Given the description of an element on the screen output the (x, y) to click on. 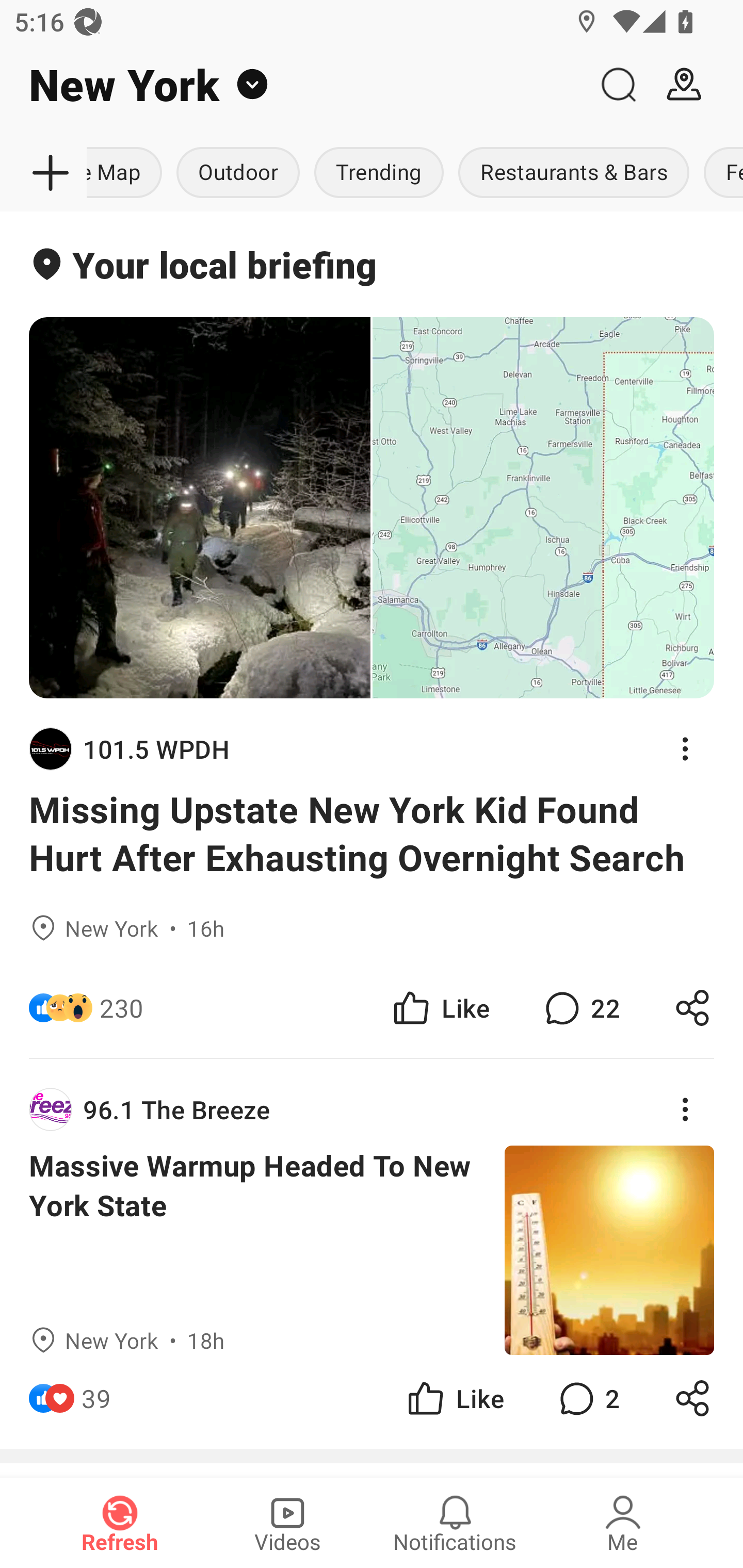
New York (292, 84)
Outdoor (237, 172)
Trending (378, 172)
Restaurants & Bars (573, 172)
230 (121, 1007)
Like (439, 1007)
22 (579, 1007)
39 (95, 1397)
Like (454, 1397)
2 (587, 1397)
Videos (287, 1522)
Notifications (455, 1522)
Me (622, 1522)
